Given the description of an element on the screen output the (x, y) to click on. 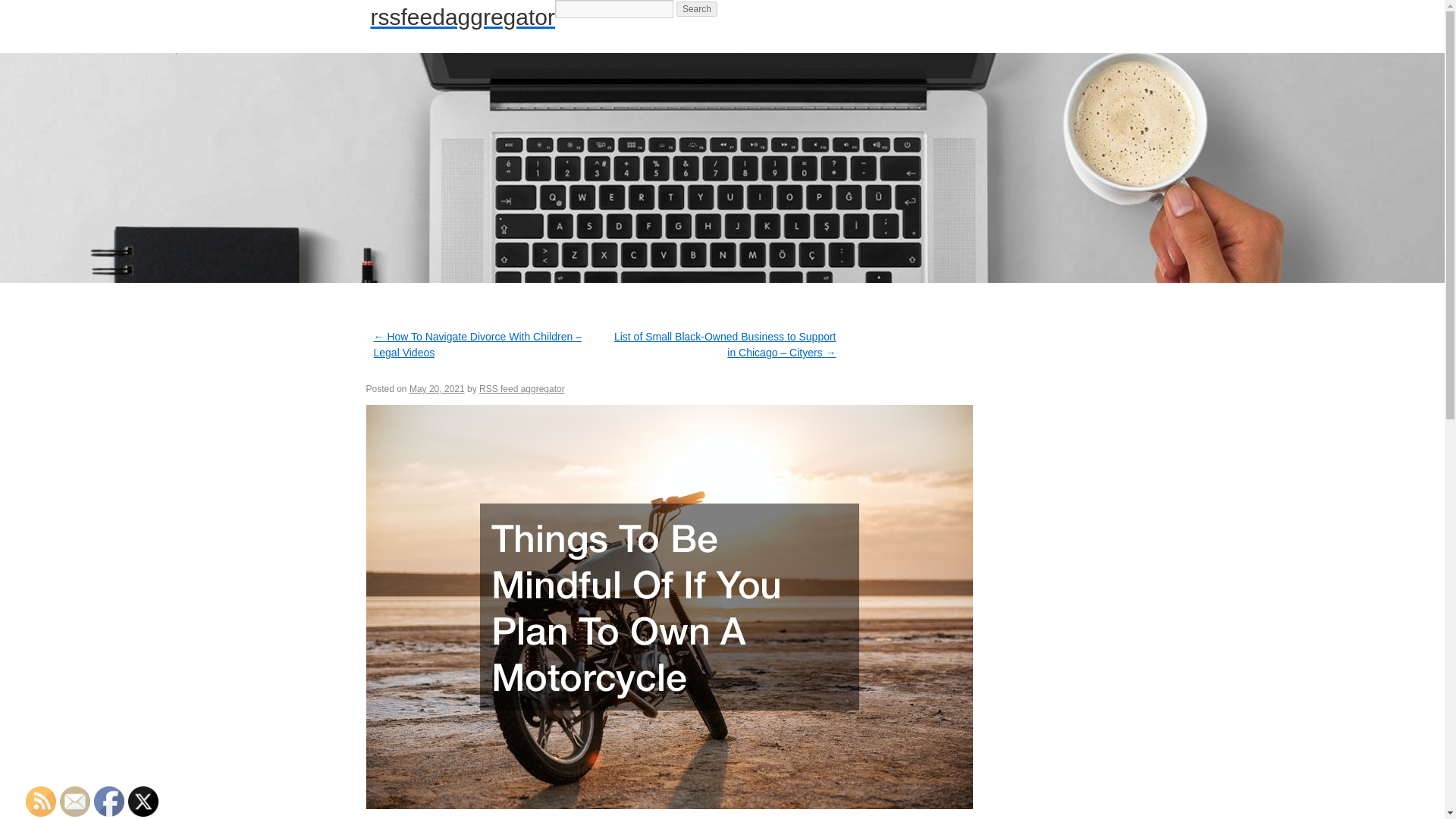
Search (697, 8)
rssfeedaggregator (461, 16)
RSS (41, 801)
Twitter (143, 801)
RSS feed aggregator (521, 388)
Follow by Email (74, 801)
Search (697, 8)
View all posts by RSS feed aggregator (521, 388)
5:58 am (436, 388)
May 20, 2021 (436, 388)
Facebook (108, 801)
